Given the description of an element on the screen output the (x, y) to click on. 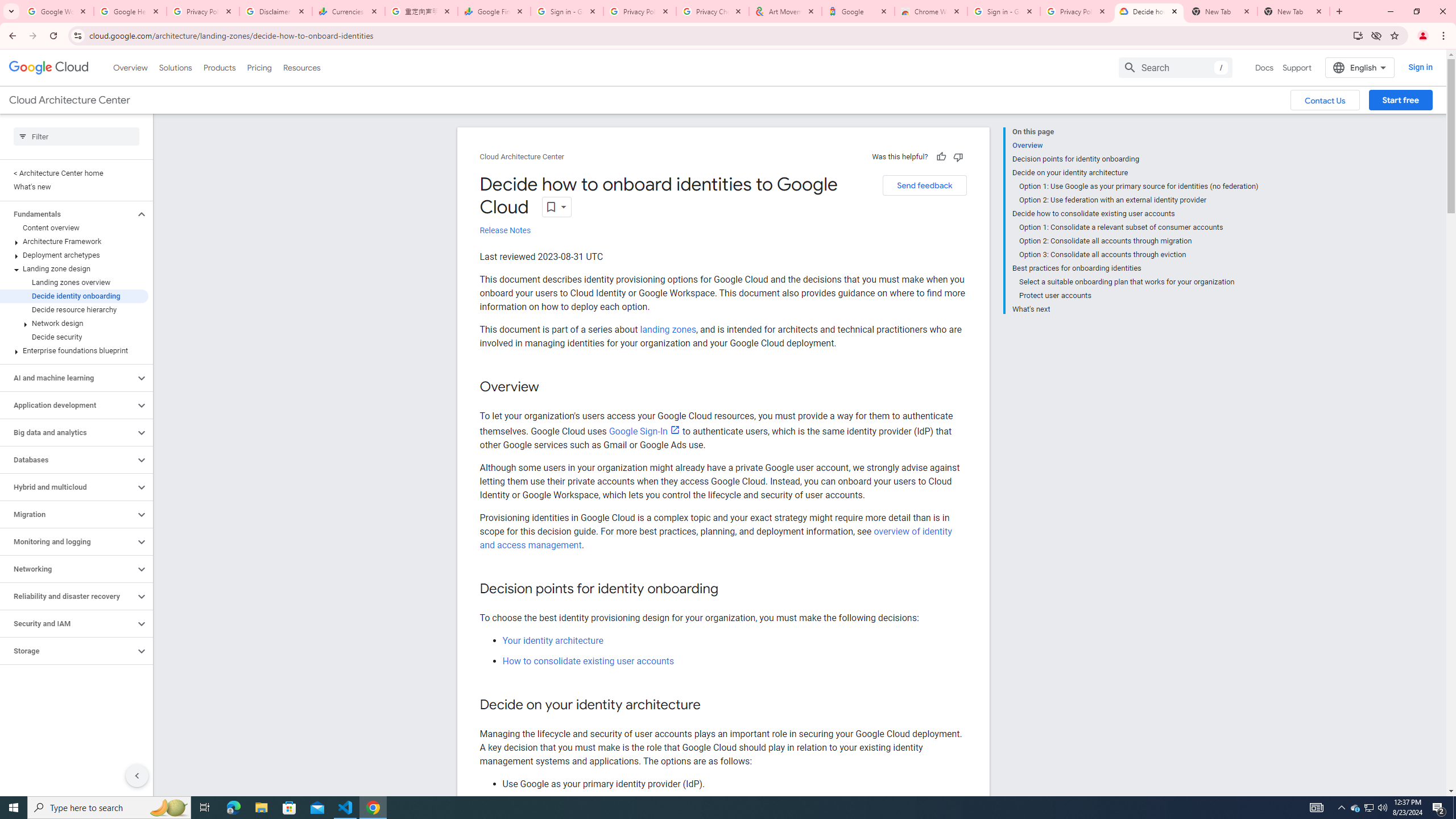
Best practices for onboarding identities (1134, 268)
Not helpful (957, 156)
Chrome Web Store - Color themes by Chrome (930, 11)
< Architecture Center home (74, 173)
Migration (67, 514)
Hybrid and multicloud (67, 486)
Security and IAM (67, 623)
Deployment archetypes (74, 255)
Privacy Checkup (712, 11)
Copy link to this section: Overview (550, 387)
